Given the description of an element on the screen output the (x, y) to click on. 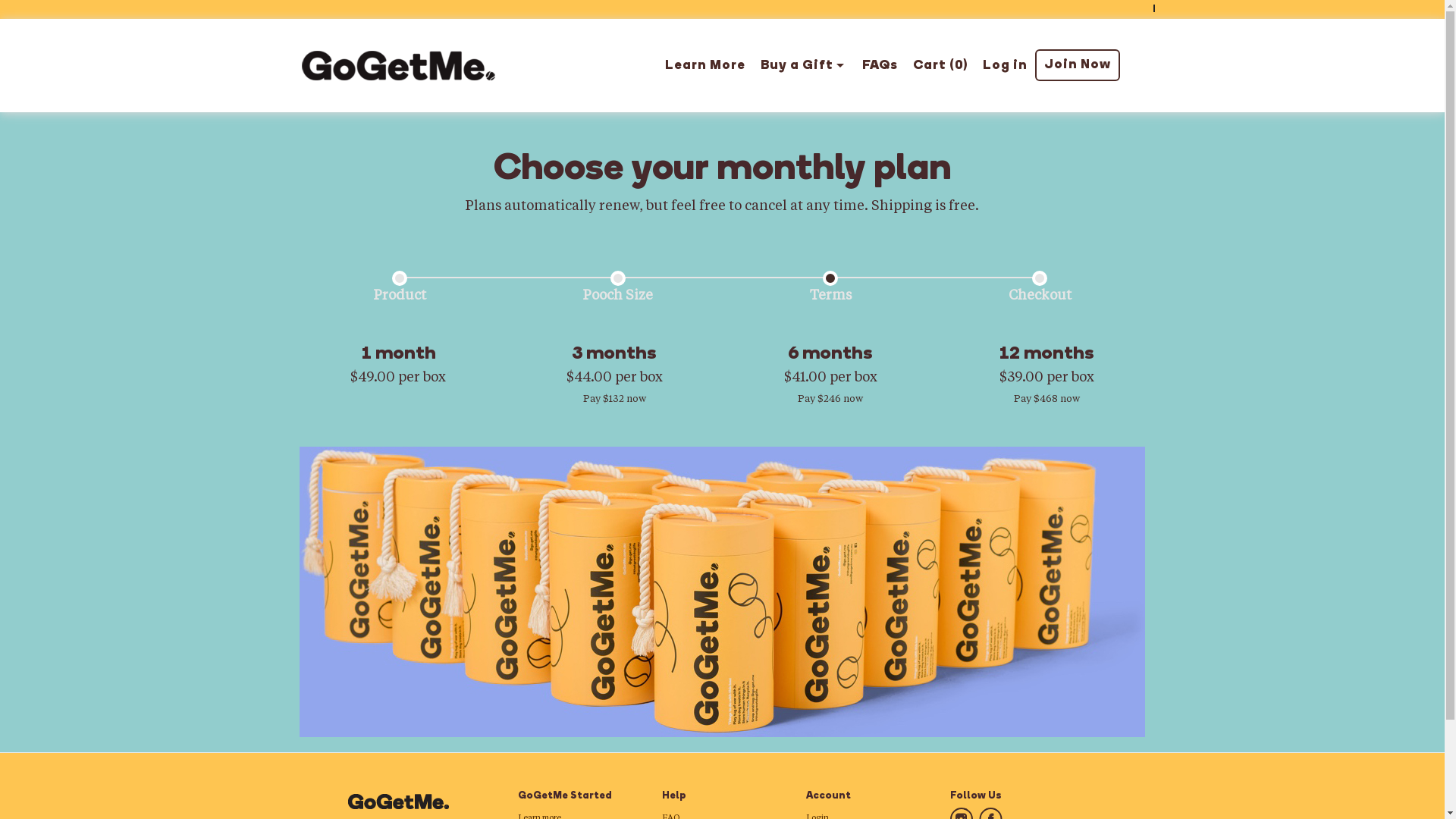
Learn More Element type: text (704, 65)
Buy a Gift Element type: text (802, 65)
12 months
$39.00 per box
Pay $468 now Element type: text (1046, 372)
1 month
$49.00 per box Element type: text (397, 363)
FAQs Element type: text (878, 65)
Log in Element type: text (1005, 65)
Join Now Element type: text (1076, 65)
6 months
$41.00 per box
Pay $246 now Element type: text (829, 372)
3 months
$44.00 per box
Pay $132 now Element type: text (614, 372)
Cart (0) Element type: text (940, 65)
